Given the description of an element on the screen output the (x, y) to click on. 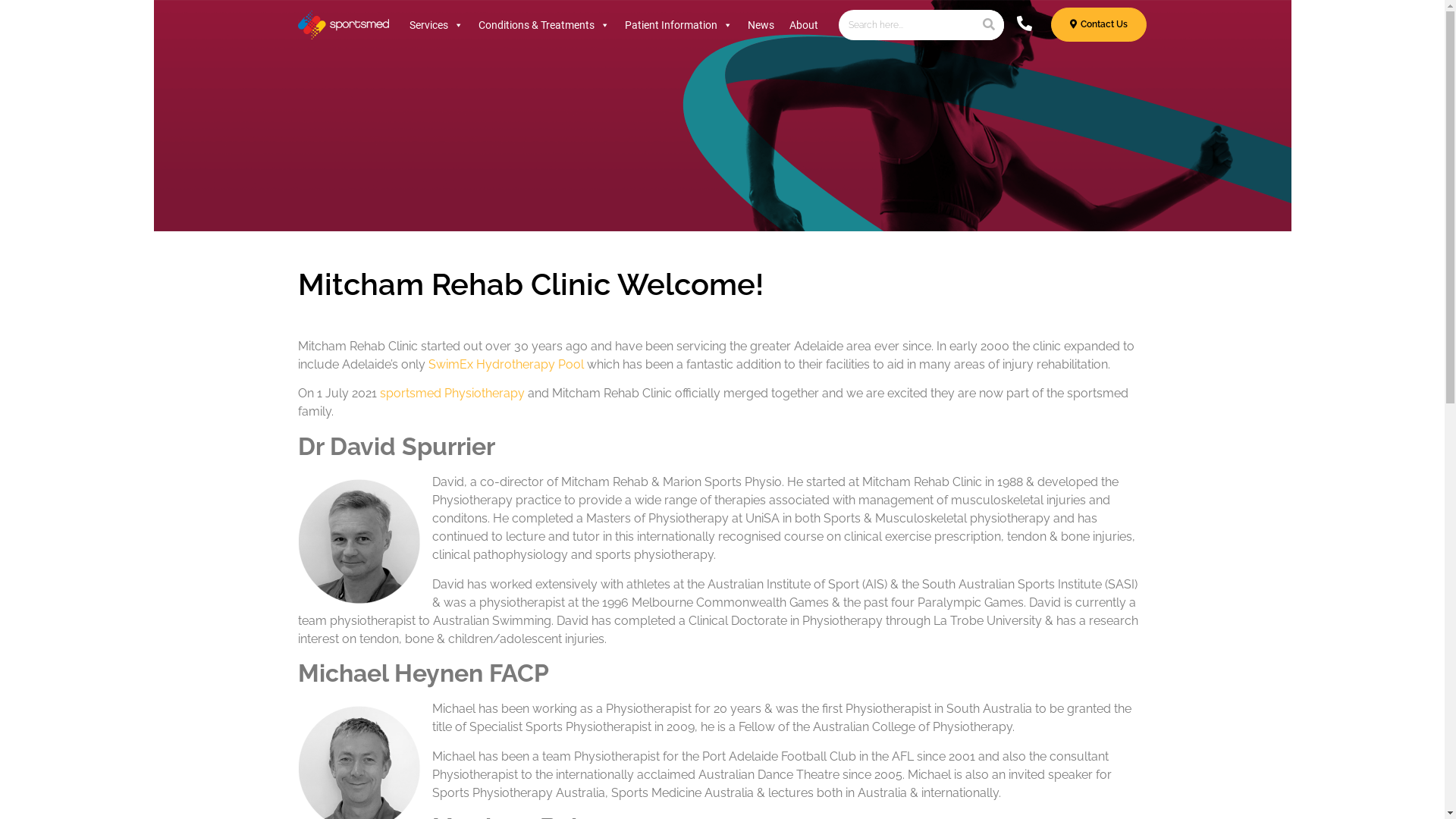
Contact Us Element type: text (1098, 24)
News Element type: text (760, 24)
Services Element type: text (435, 24)
SwimEx Hydrotherapy Pool Element type: text (505, 364)
About Element type: text (803, 24)
Patient Information Element type: text (678, 24)
sportsmed Physiotherapy Element type: text (451, 392)
Conditions & Treatments Element type: text (543, 24)
